Given the description of an element on the screen output the (x, y) to click on. 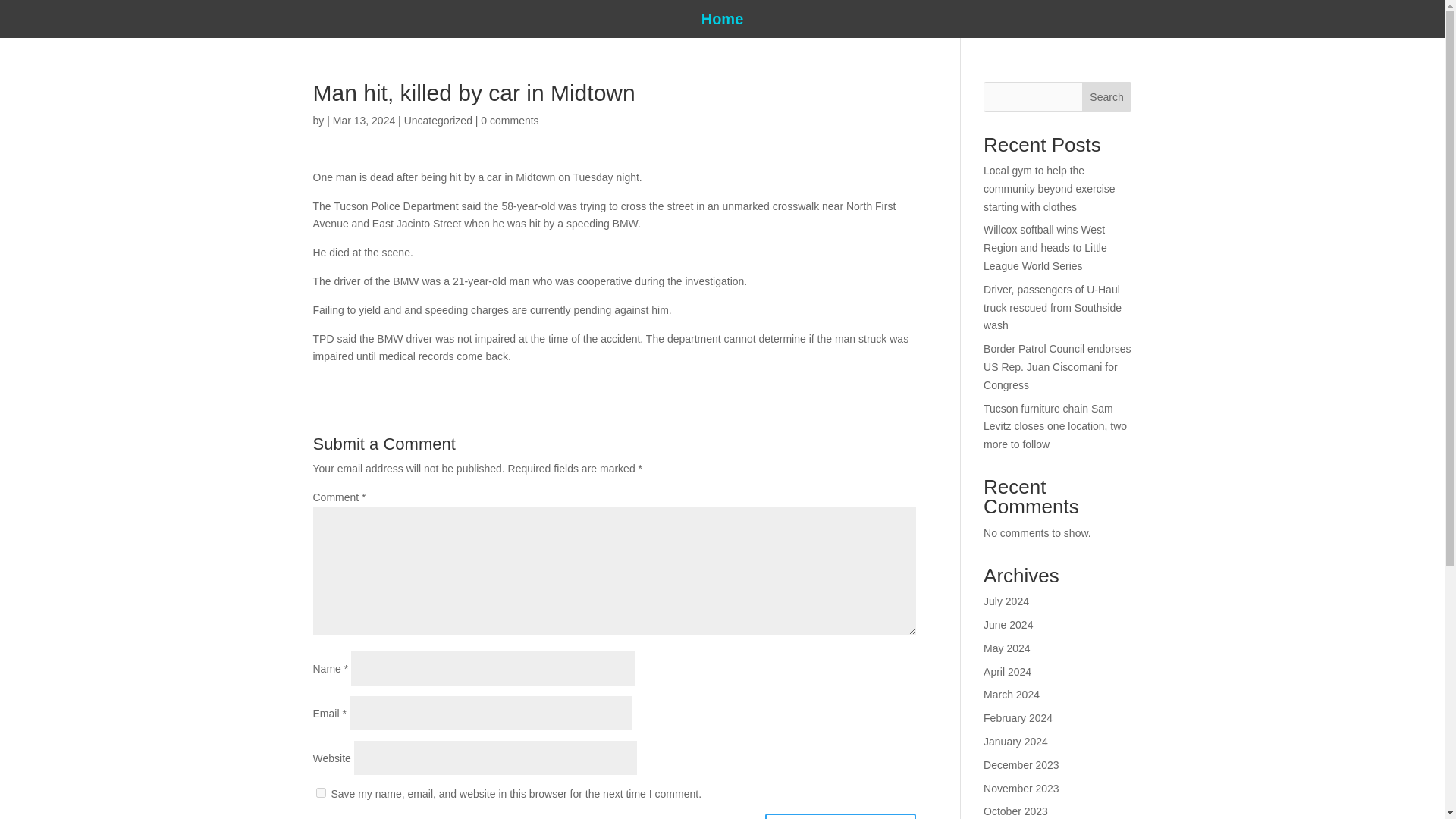
May 2024 (1006, 648)
Submit Comment (840, 816)
Uncategorized (437, 120)
Home (722, 21)
January 2024 (1016, 741)
June 2024 (1008, 624)
yes (319, 792)
March 2024 (1011, 694)
July 2024 (1006, 601)
April 2024 (1007, 671)
February 2024 (1018, 717)
November 2023 (1021, 788)
Search (1106, 96)
